Given the description of an element on the screen output the (x, y) to click on. 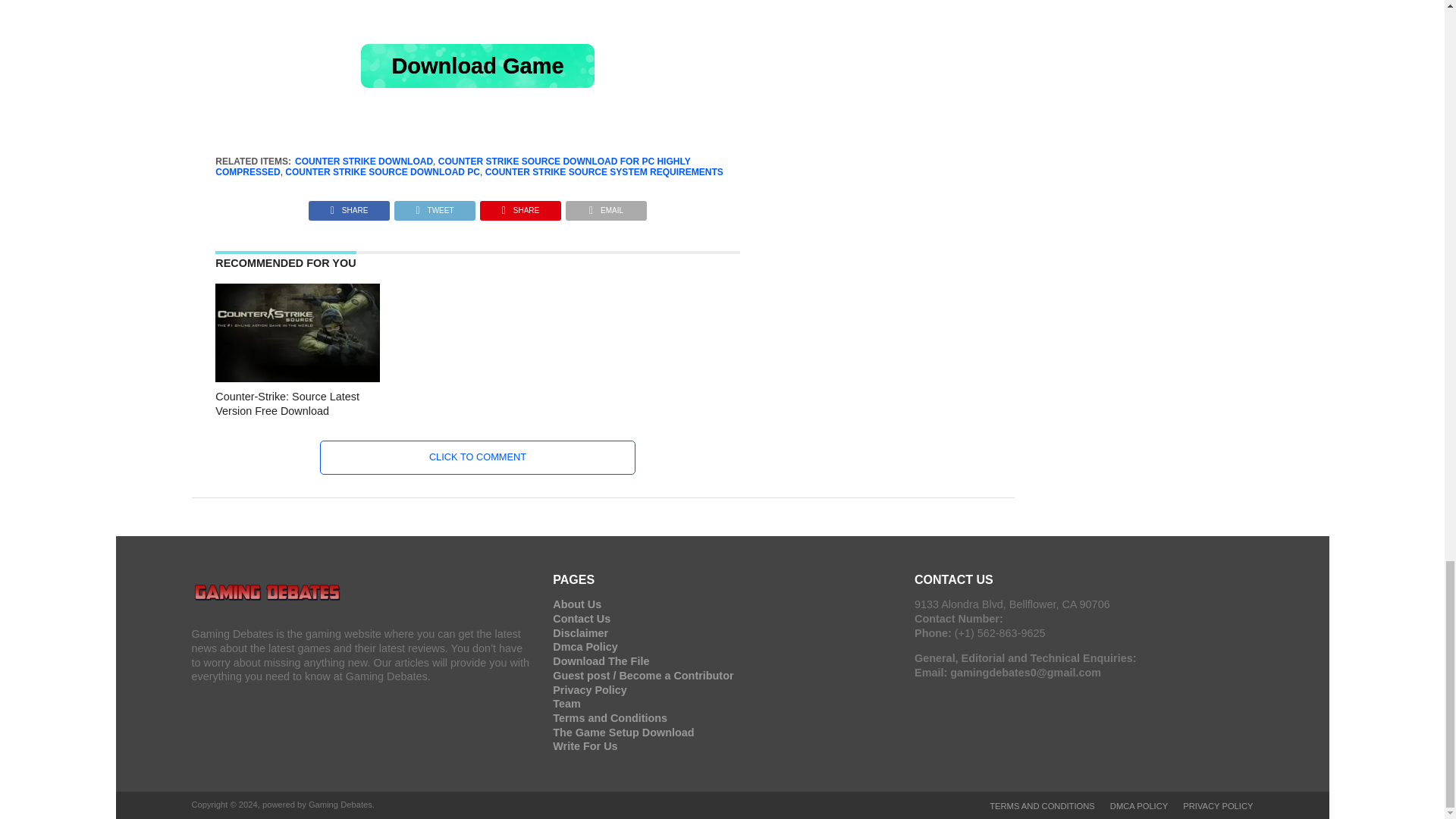
COUNTER STRIKE SOURCE SYSTEM REQUIREMENTS (603, 172)
Pin This Post (520, 205)
Counter-Strike: Source Latest Version Free Download (297, 377)
Download Game (477, 65)
COUNTER STRIKE DOWNLOAD (363, 161)
SHARE (349, 205)
Tweet This Post (434, 205)
Share on Facebook (349, 205)
COUNTER STRIKE SOURCE DOWNLOAD PC (382, 172)
TWEET (434, 205)
